Given the description of an element on the screen output the (x, y) to click on. 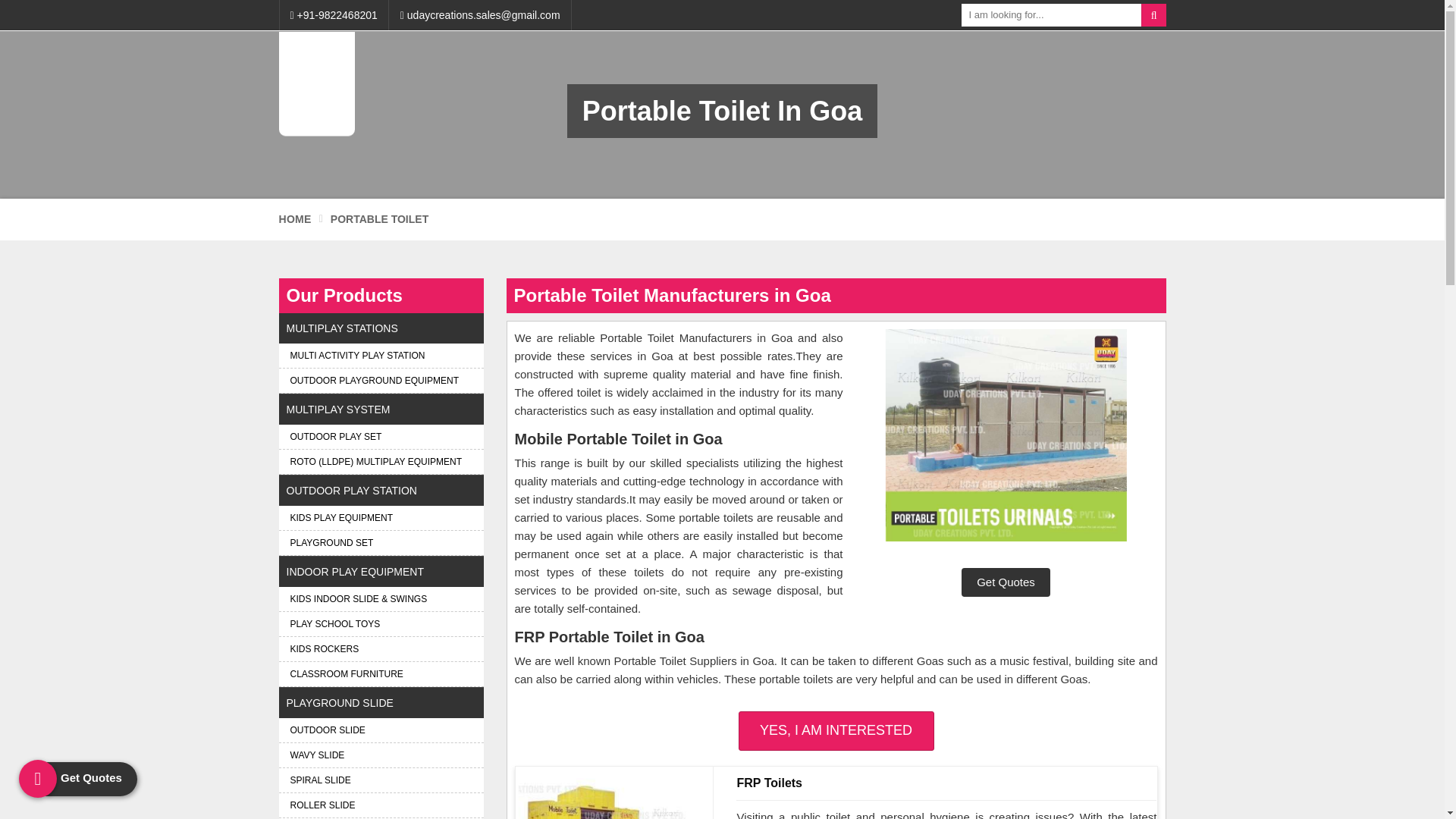
Get Quotes (1004, 582)
MULTIPLAY STATIONS (381, 327)
HOME (295, 219)
KIDS ROCKERS (381, 648)
YES, I AM INTERESTED (836, 731)
MULTIPLAY SYSTEM (381, 409)
ROLLER SLIDE (381, 805)
FRP Toilets (946, 782)
SPIRAL SLIDE (381, 780)
OUTDOOR PLAY SET (381, 436)
KIDS PLAY EQUIPMENT (381, 517)
OUTDOOR PLAYGROUND EQUIPMENT (381, 380)
 FRP Toilets Manufacturers in Goa (607, 798)
OUTDOOR SLIDE (381, 730)
